Given the description of an element on the screen output the (x, y) to click on. 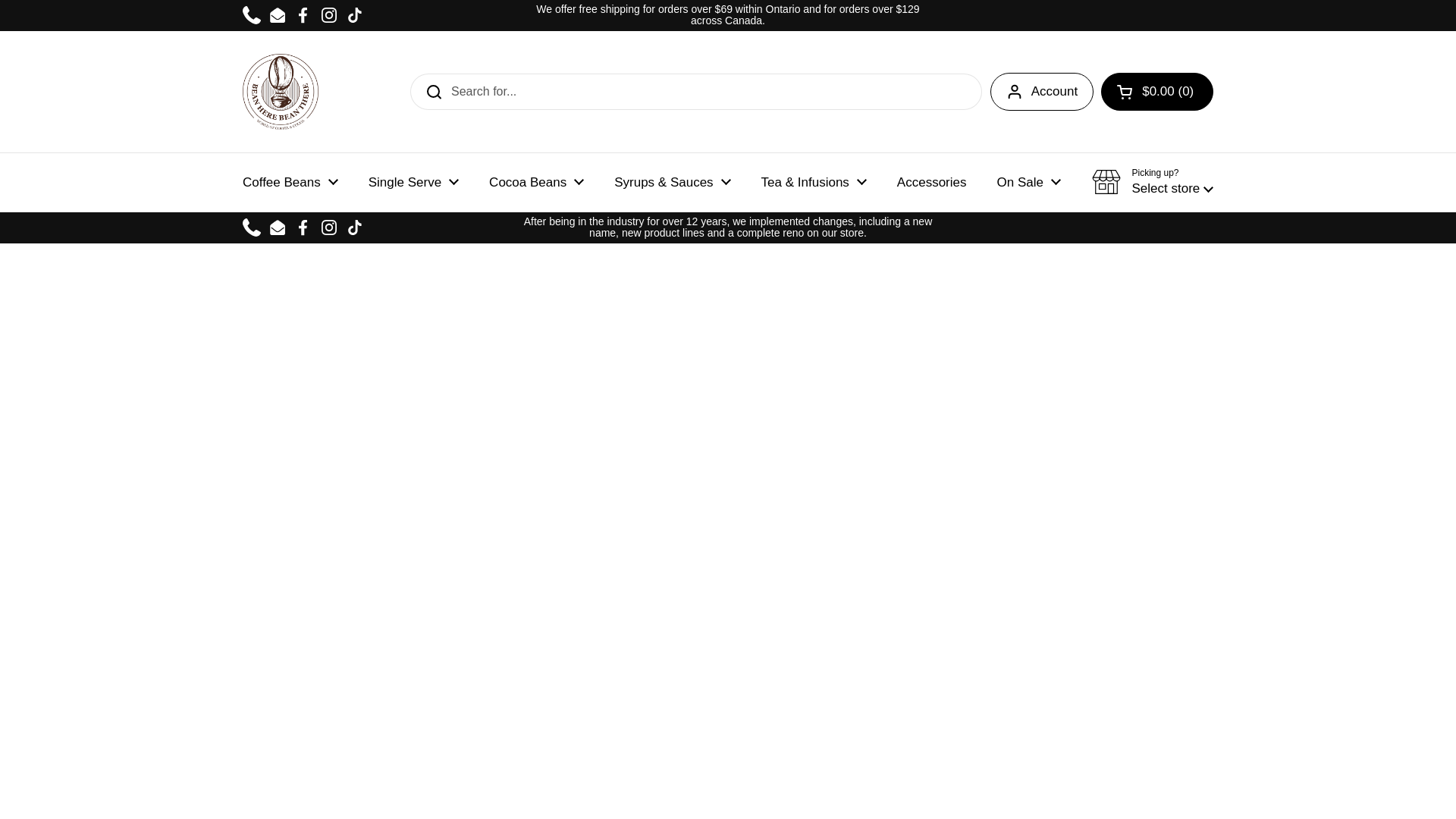
Accessories (931, 181)
Cocoa Beans (536, 181)
On Sale (1028, 181)
Phone (251, 14)
Email (276, 14)
Open cart (1156, 91)
Coffee Beans (290, 181)
Single Serve (413, 181)
Coffee Beans (290, 181)
Instagram (328, 14)
Cocoa Beans (536, 181)
Facebook (303, 14)
TikTok (355, 14)
Account (1041, 91)
